Given the description of an element on the screen output the (x, y) to click on. 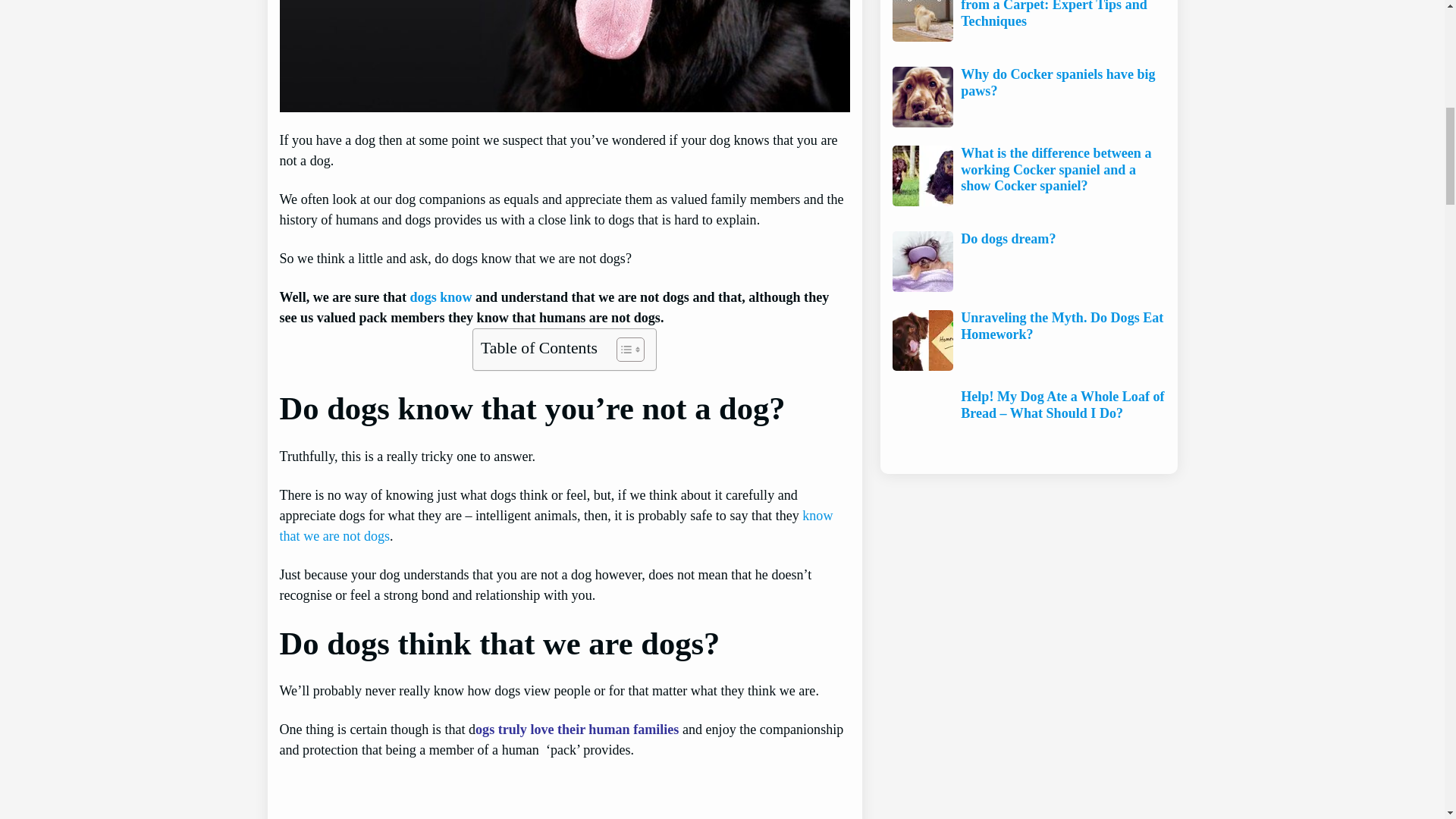
know that we are not dogs (555, 525)
ogs truly love their human families (577, 729)
dogs know (440, 296)
